Given the description of an element on the screen output the (x, y) to click on. 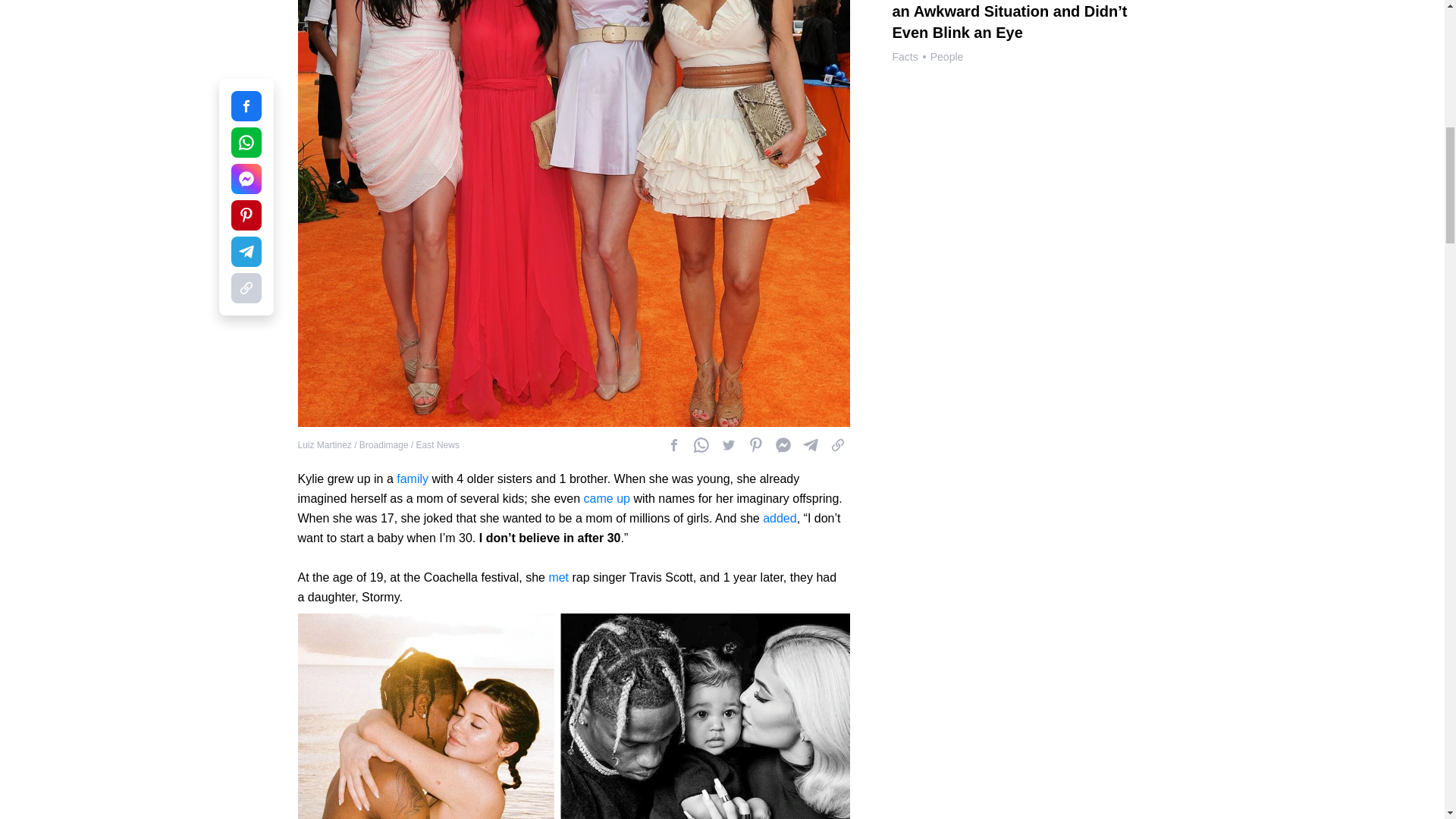
Copy link (836, 445)
Share on Twitter (727, 445)
Share on Facebook (782, 445)
met (558, 576)
added (779, 517)
Share on Facebook (673, 445)
family (412, 478)
Share on Telegram (809, 445)
Facts (904, 56)
People (946, 56)
Share on Pinterest (754, 445)
Share on WhatsApp (700, 445)
came up (606, 498)
